Given the description of an element on the screen output the (x, y) to click on. 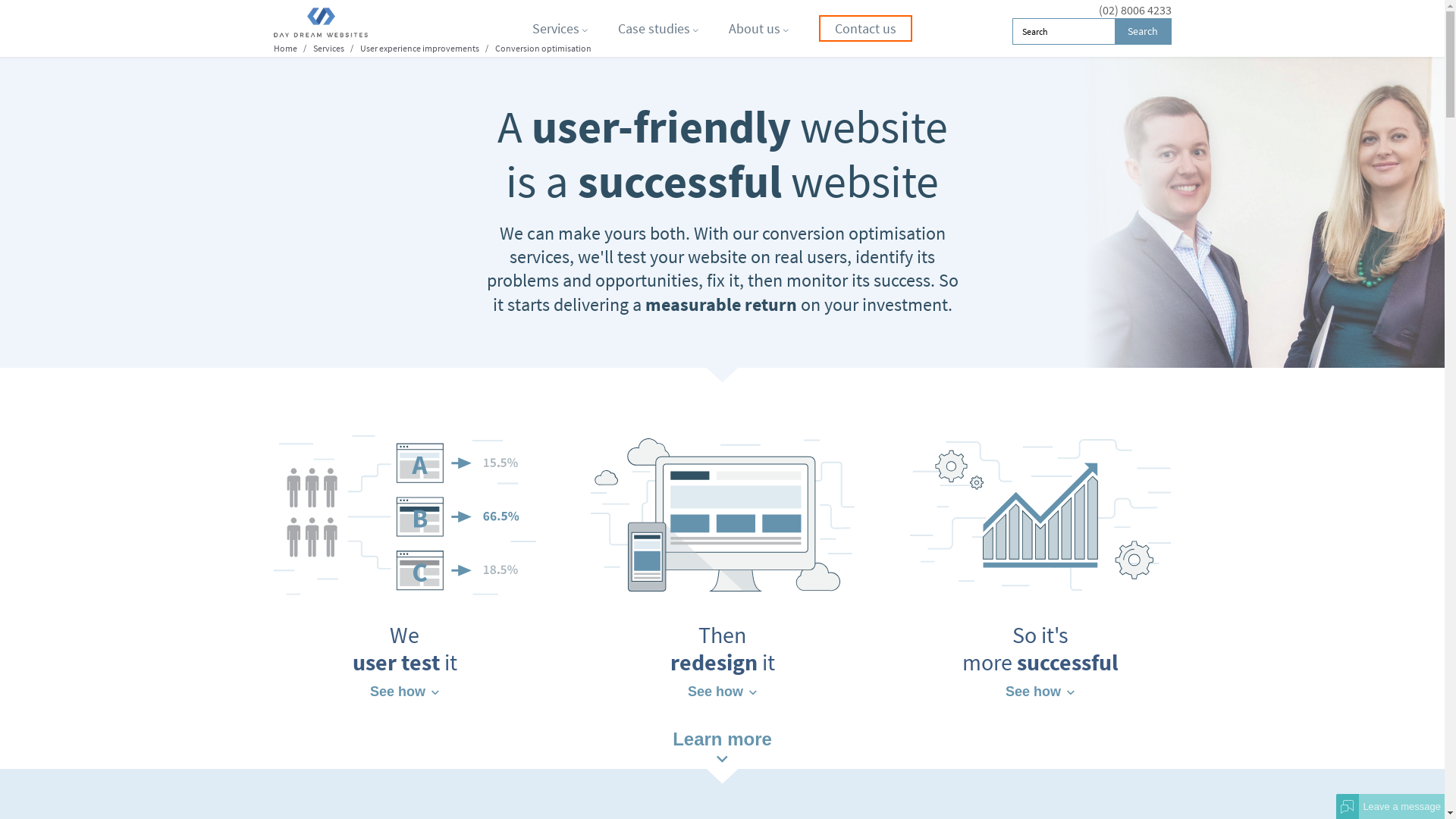
Services Element type: text (327, 47)
Day Dream Websites, A Sydney based web design company Element type: text (348, 22)
See how Element type: text (404, 689)
Services Element type: text (559, 28)
Contact us Element type: text (865, 28)
Search Element type: text (1142, 31)
Learn more Element type: text (721, 743)
Home Element type: text (284, 47)
Offline Element type: hover (1347, 805)
See how Element type: text (1039, 689)
User experience improvements Element type: text (418, 47)
About us Element type: text (758, 28)
Case studies Element type: text (658, 28)
See how Element type: text (721, 689)
